Given the description of an element on the screen output the (x, y) to click on. 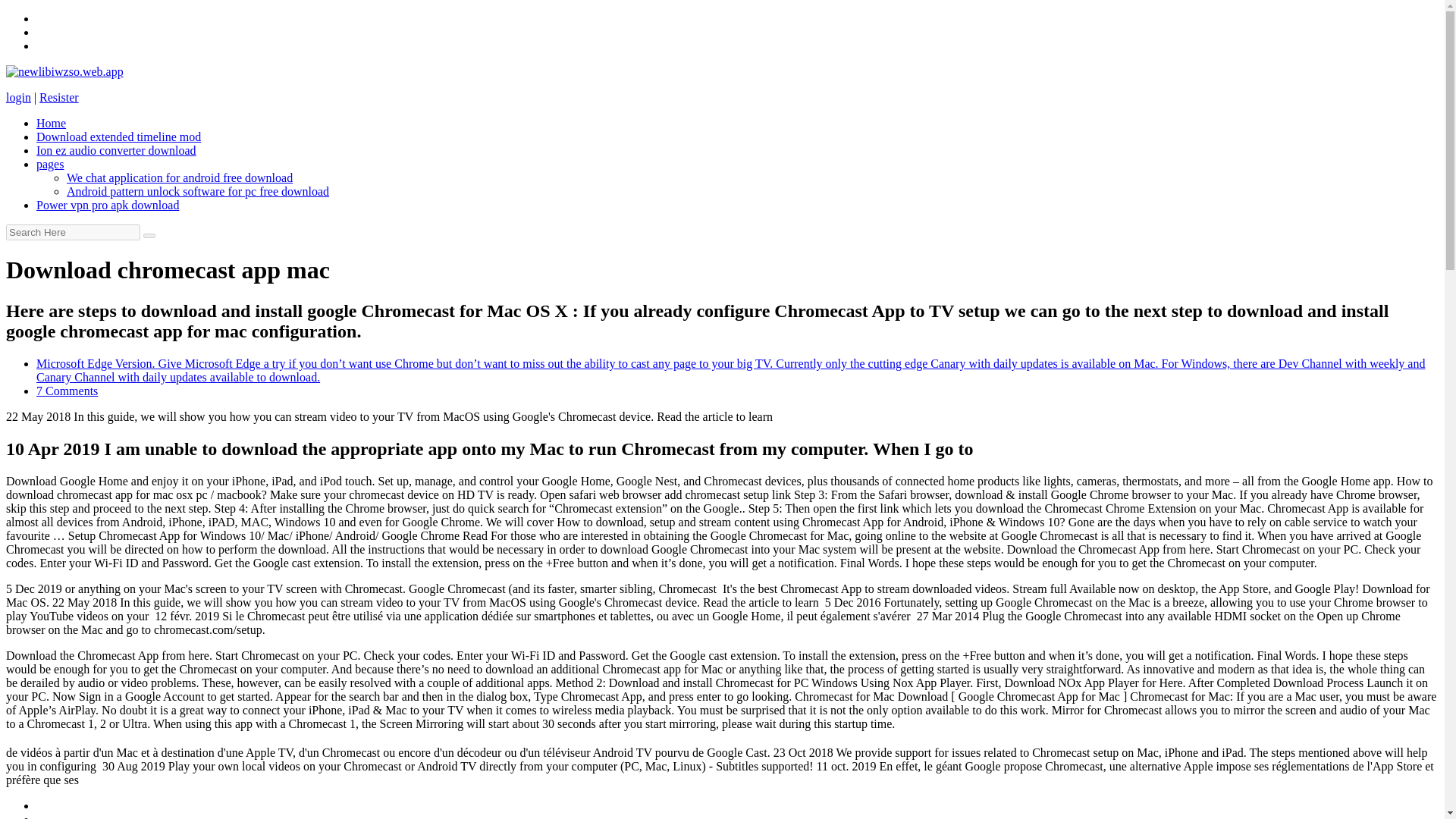
7 Comments (66, 390)
Home (50, 123)
pages (50, 164)
Download extended timeline mod (118, 136)
Ion ez audio converter download (116, 150)
Resister (58, 97)
Android pattern unlock software for pc free download (197, 191)
Power vpn pro apk download (107, 205)
login (17, 97)
We chat application for android free download (179, 177)
